Given the description of an element on the screen output the (x, y) to click on. 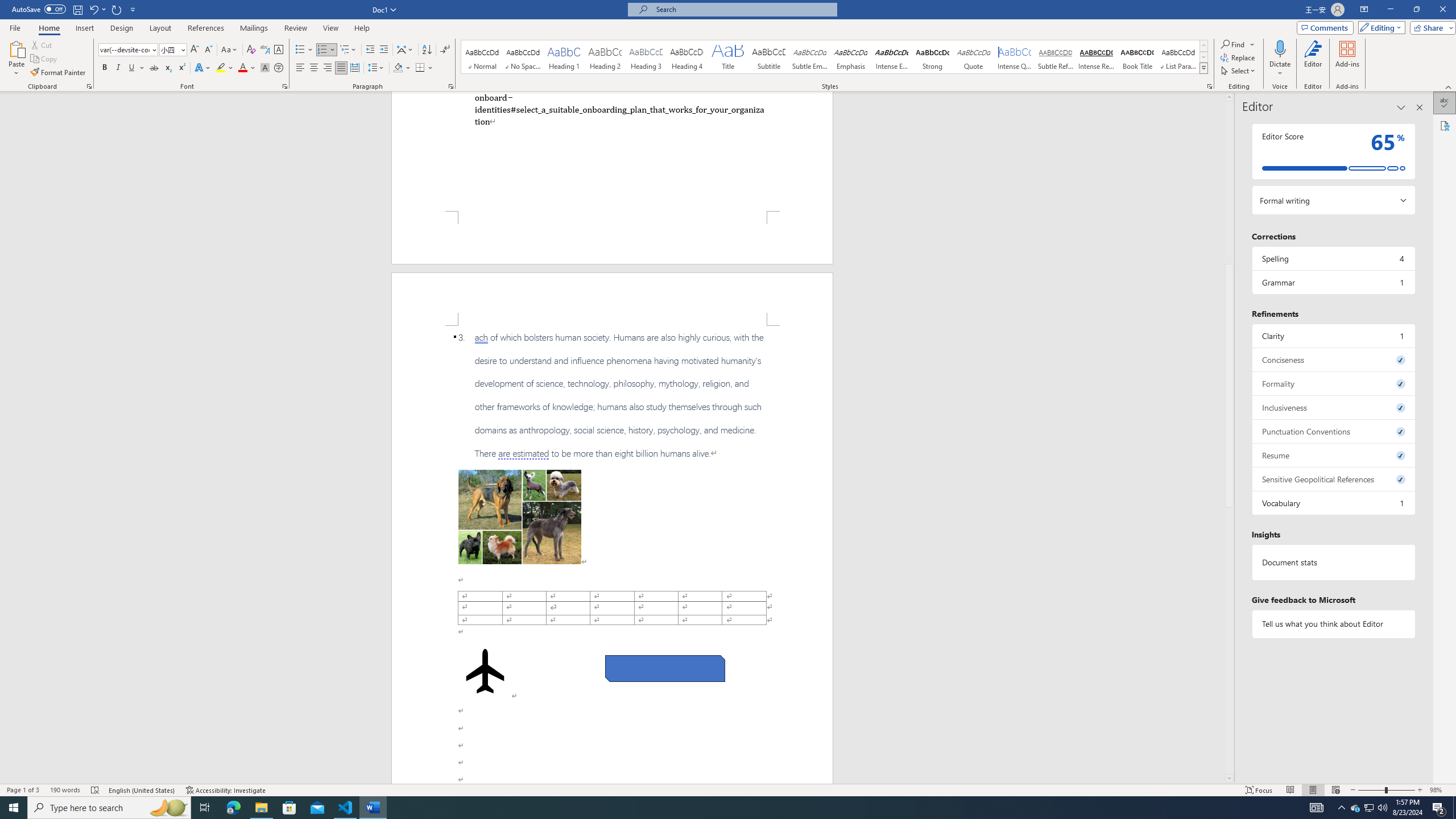
Decrease Indent (370, 49)
Repeat Style (117, 9)
Undo Apply Quick Style (96, 9)
Minimize (1390, 9)
Undo Apply Quick Style (92, 9)
Focus  (1258, 790)
Text Highlight Color (224, 67)
Design (122, 28)
Distributed (354, 67)
Paragraph... (450, 85)
Print Layout (1312, 790)
Home (48, 28)
